Given the description of an element on the screen output the (x, y) to click on. 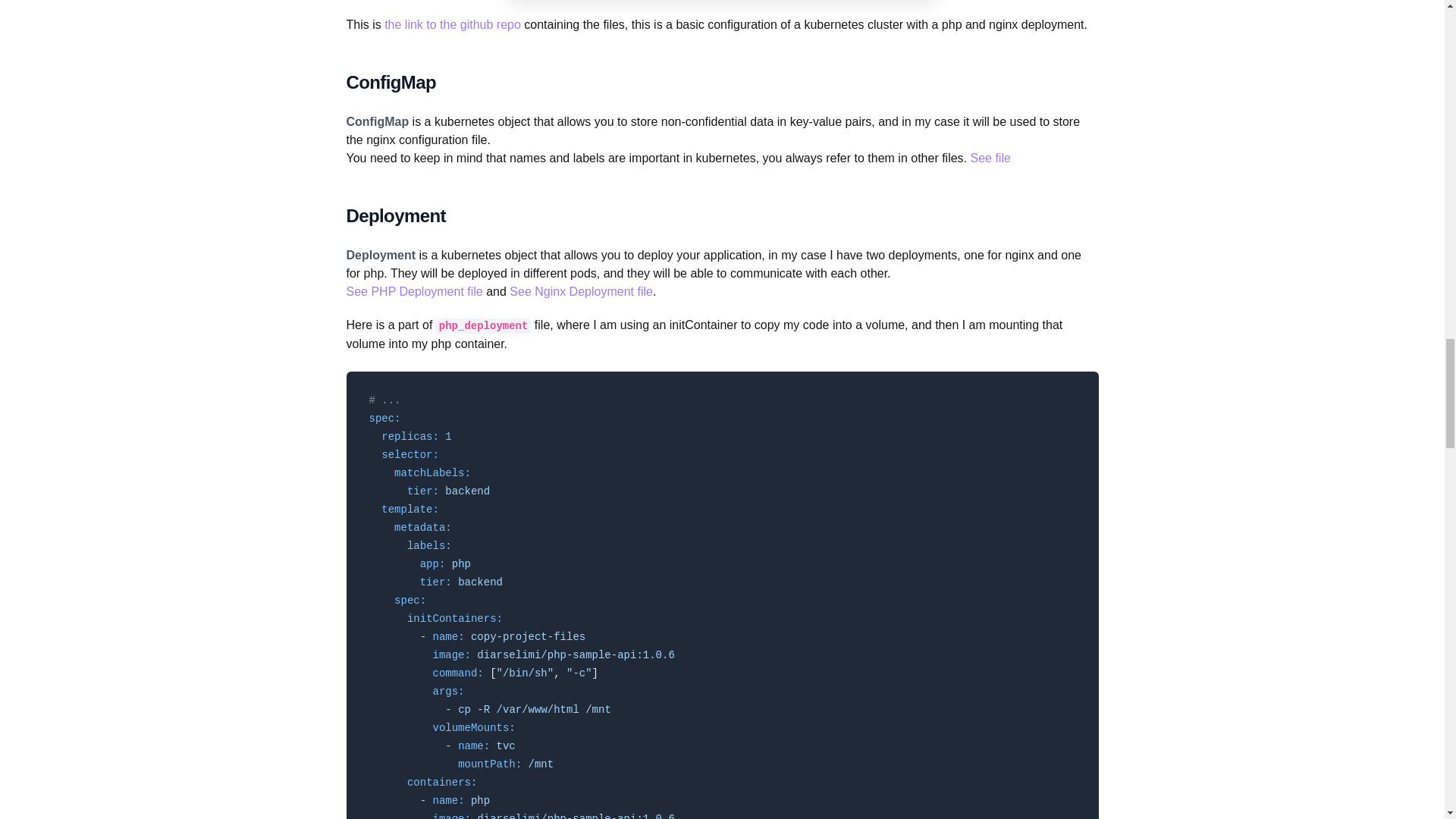
the link to the github repo (452, 24)
See file (990, 157)
See Nginx Deployment file (580, 291)
See PHP Deployment file (413, 291)
